Given the description of an element on the screen output the (x, y) to click on. 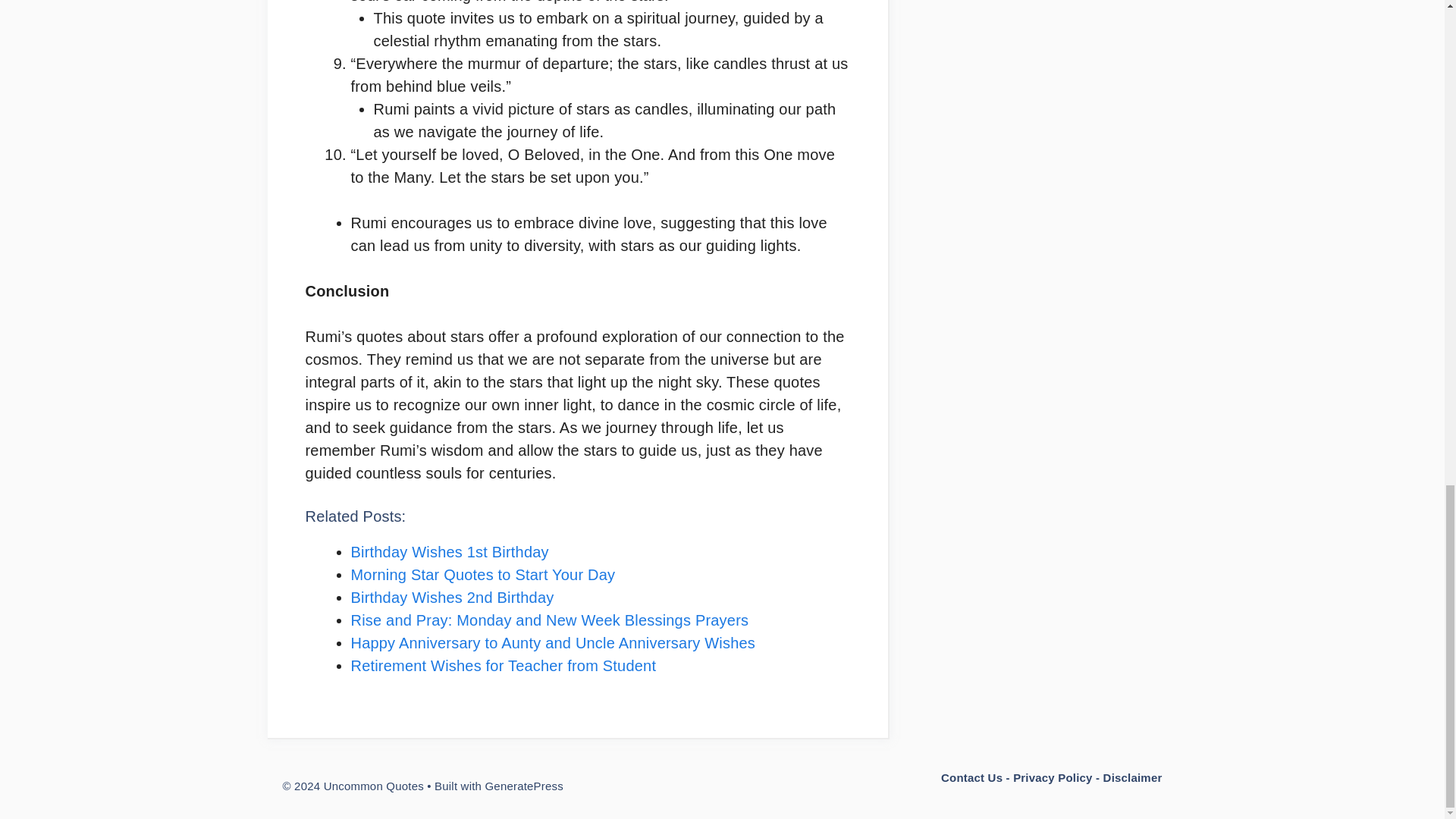
Disclaimer (1132, 777)
Rise and Pray: Monday and New Week Blessings Prayers (549, 619)
Contact Us (971, 777)
Happy Anniversary to Aunty and Uncle Anniversary Wishes (552, 642)
Morning Star Quotes to Start Your Day (482, 574)
Birthday Wishes 1st Birthday (449, 551)
Retirement Wishes for Teacher from Student (503, 665)
Privacy Policy (1053, 777)
Birthday Wishes 2nd Birthday (451, 597)
GeneratePress (523, 785)
